Given the description of an element on the screen output the (x, y) to click on. 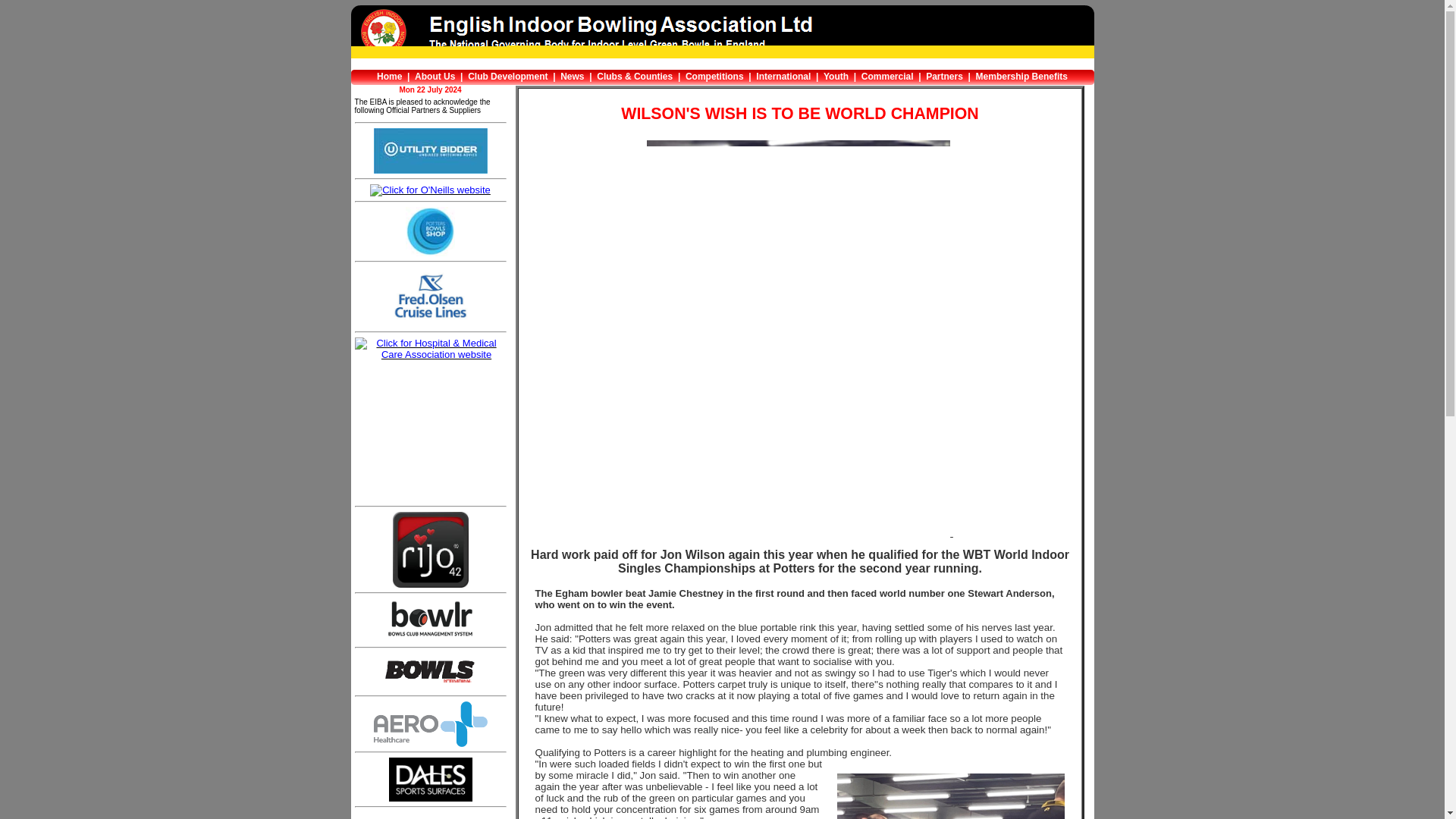
Home (389, 76)
